Given the description of an element on the screen output the (x, y) to click on. 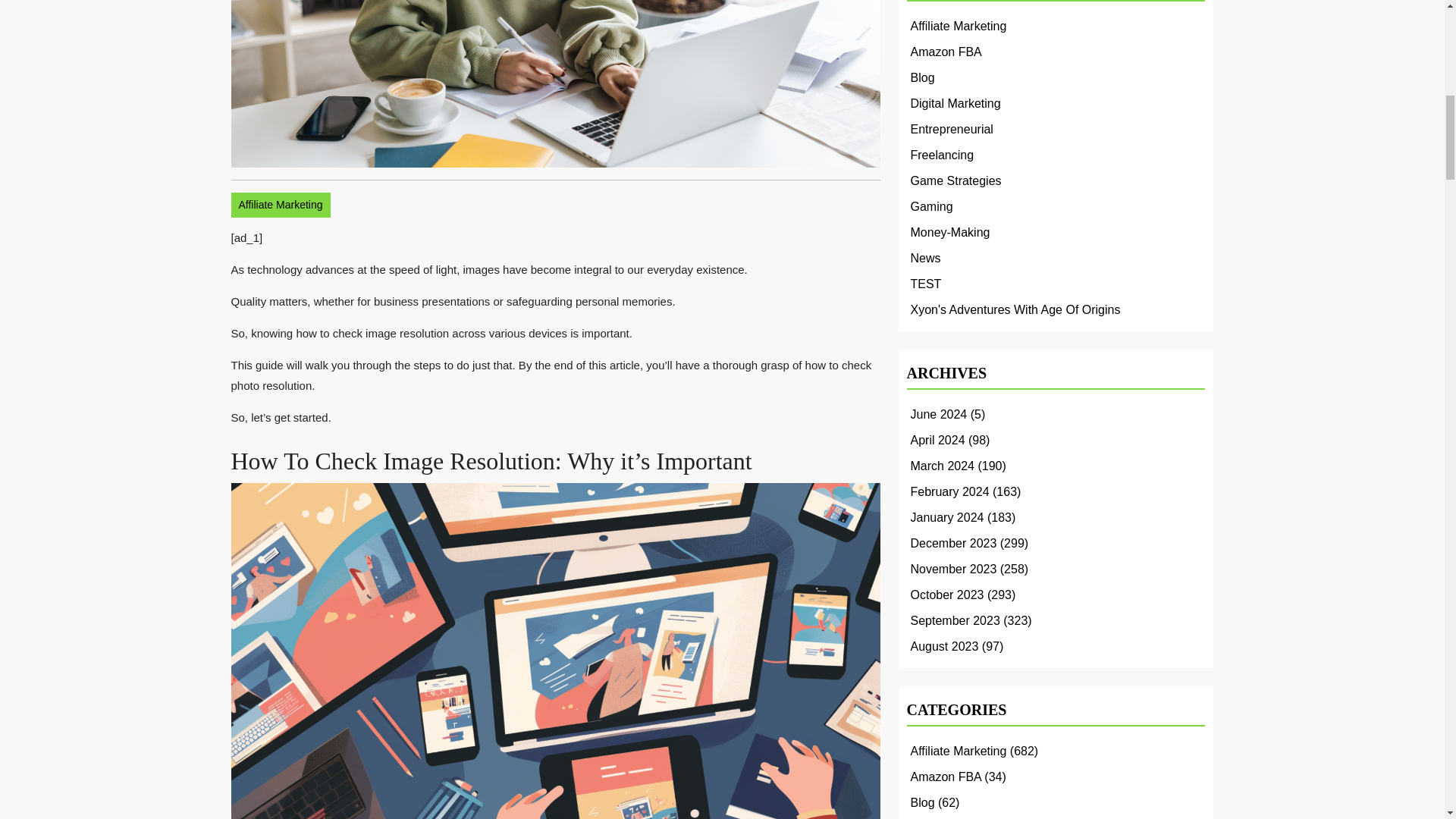
Affiliate Marketing (280, 204)
